Given the description of an element on the screen output the (x, y) to click on. 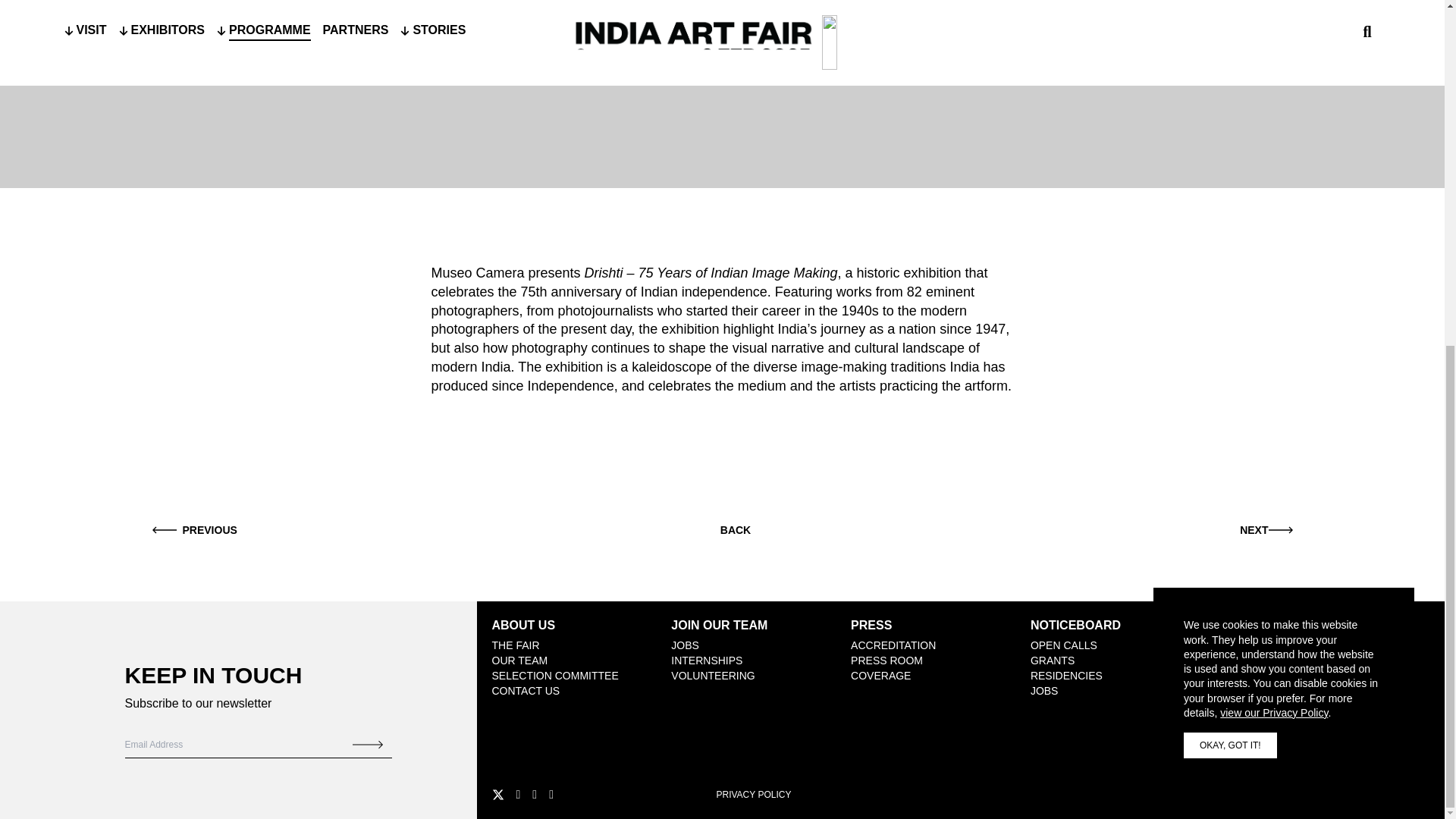
Search (366, 744)
IAF 2019 (1231, 705)
VOLUNTEERING (712, 675)
OUR TEAM (519, 660)
PRESS ROOM (886, 660)
JOBS (1044, 690)
IAF 2023 (1231, 660)
ABOUT US (523, 625)
JOBS (684, 645)
ACCREDITATION (893, 645)
RESIDENCIES (1066, 675)
OPEN CALLS (1063, 645)
NOTICEBOARD (1075, 625)
JOIN OUR TEAM (719, 625)
IAF 2022 (1231, 675)
